Given the description of an element on the screen output the (x, y) to click on. 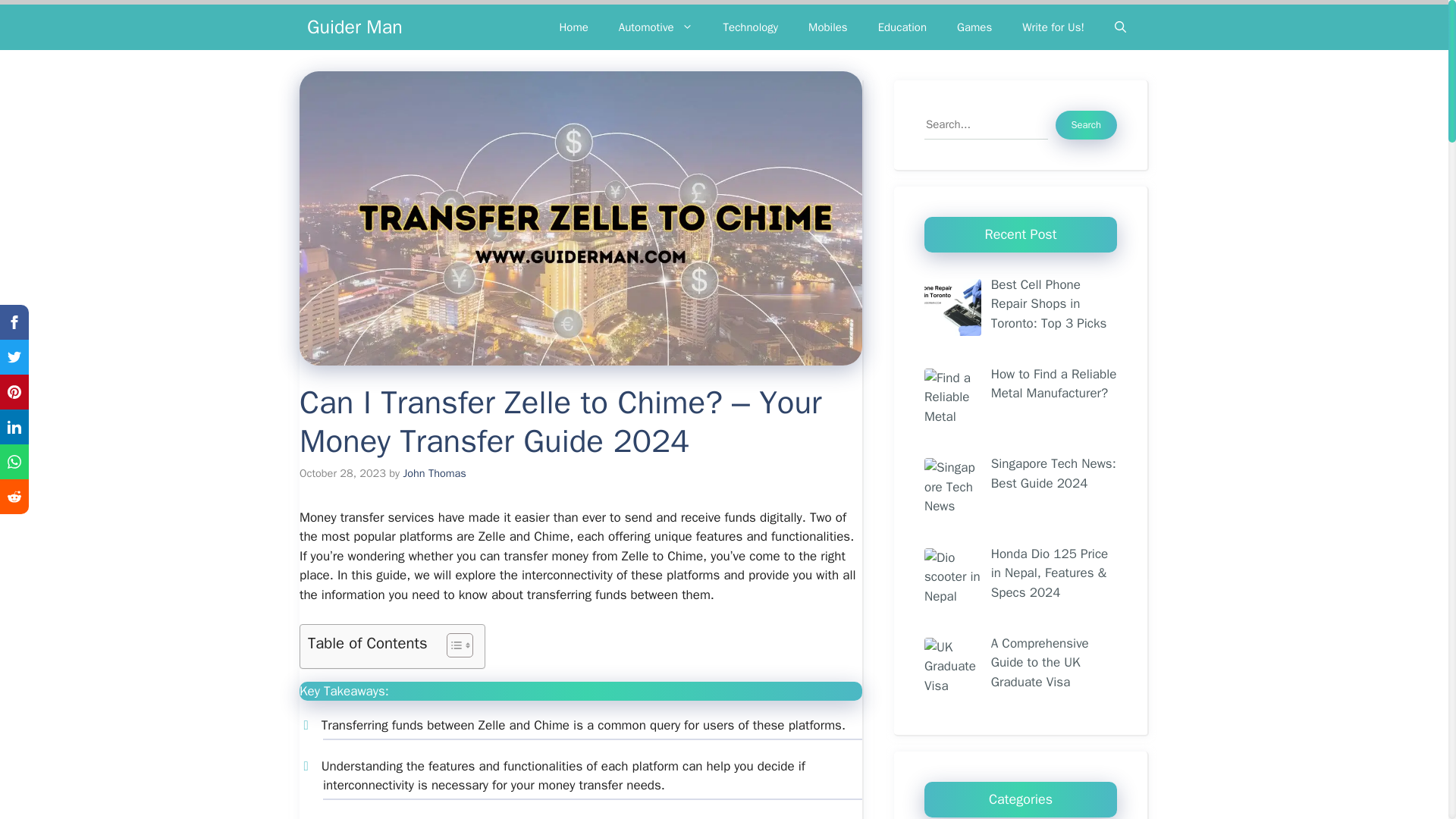
Games (974, 26)
Write for Us! (1053, 26)
Automotive (655, 26)
Mobiles (828, 26)
Education (902, 26)
Guider Man (355, 26)
John Thomas (434, 472)
Technology (750, 26)
Home (572, 26)
View all posts by John Thomas (434, 472)
